Given the description of an element on the screen output the (x, y) to click on. 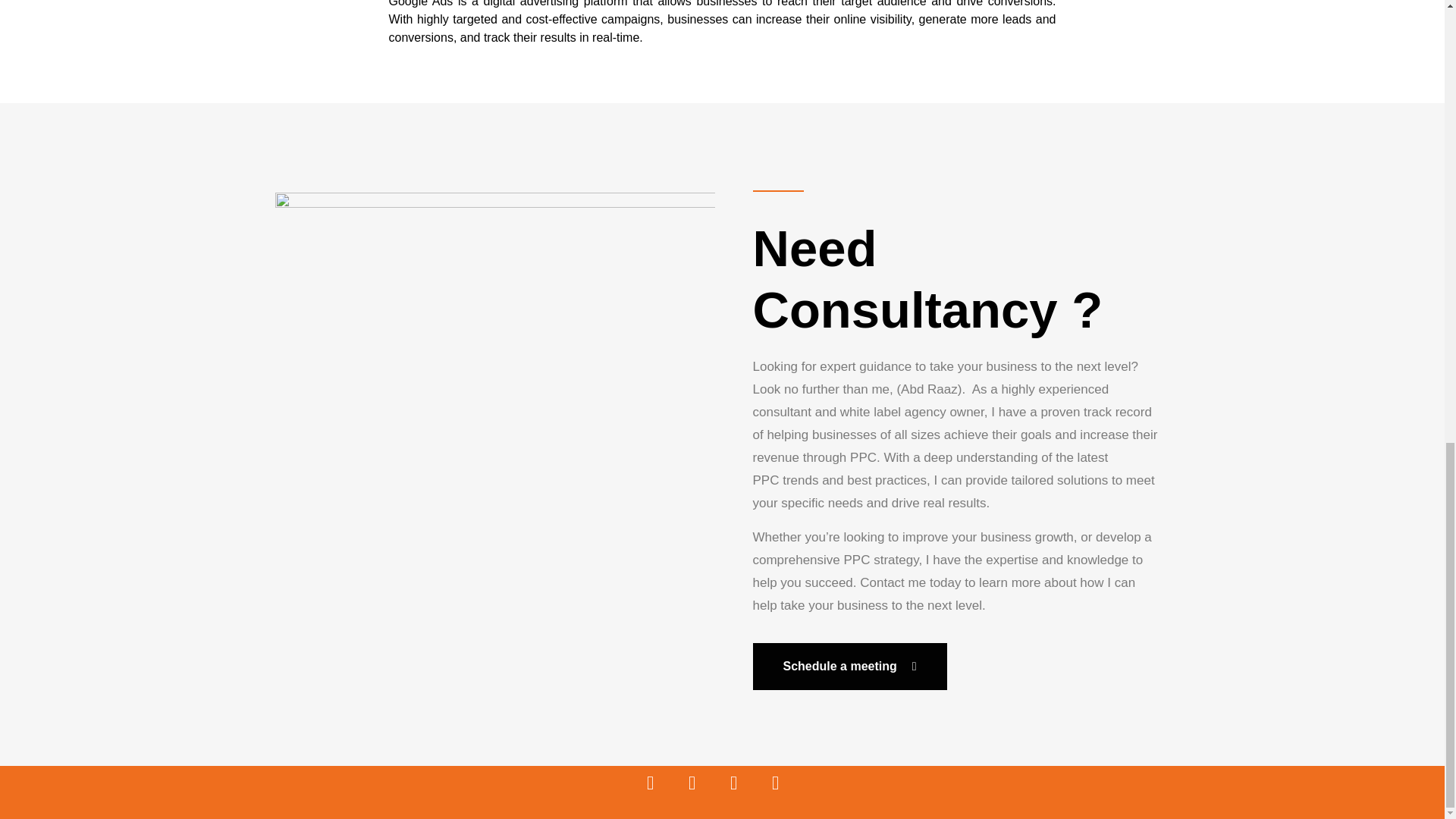
Schedule a meeting (849, 666)
